Given the description of an element on the screen output the (x, y) to click on. 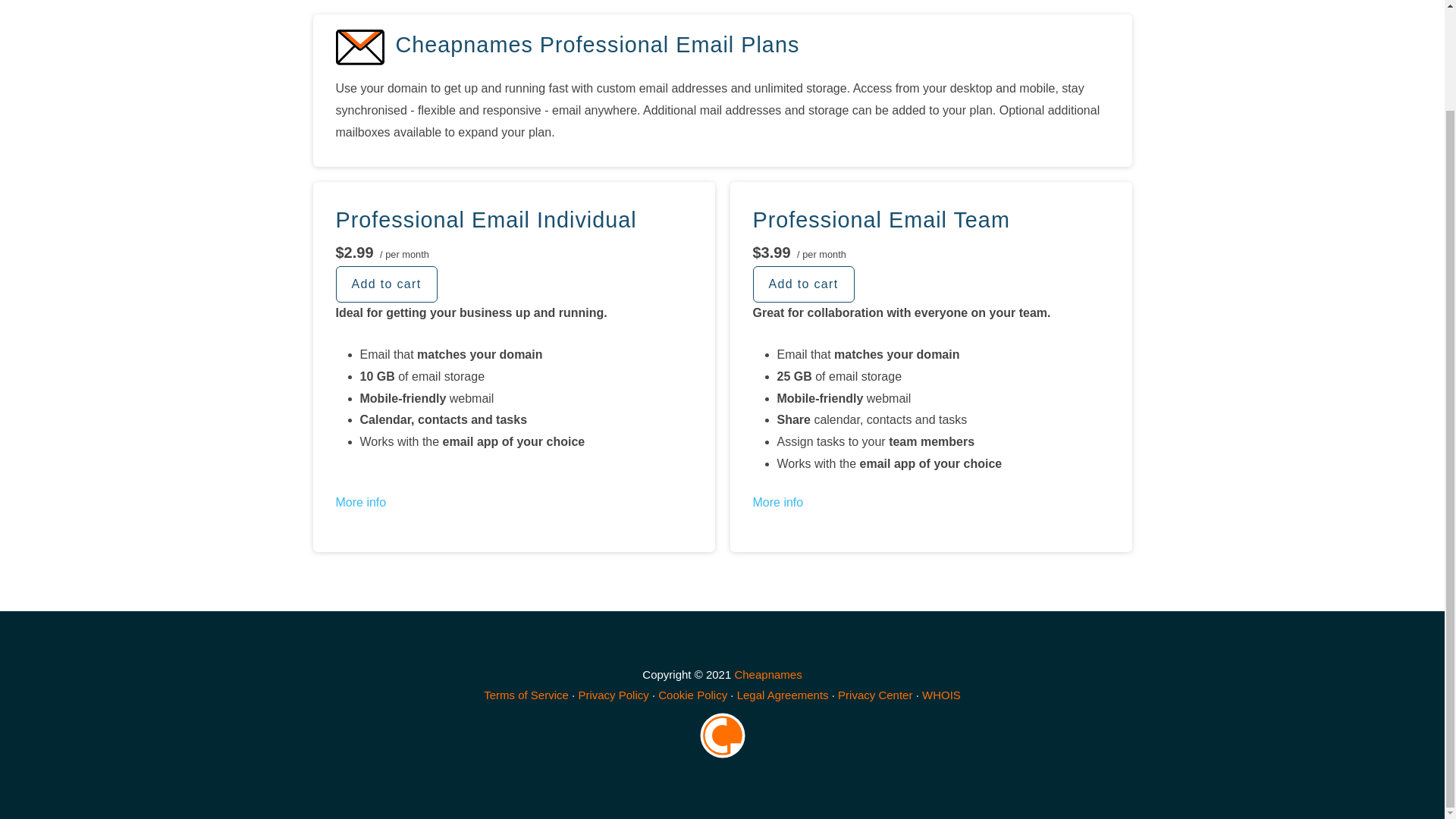
Go to Cheapnames.com (767, 674)
